Given the description of an element on the screen output the (x, y) to click on. 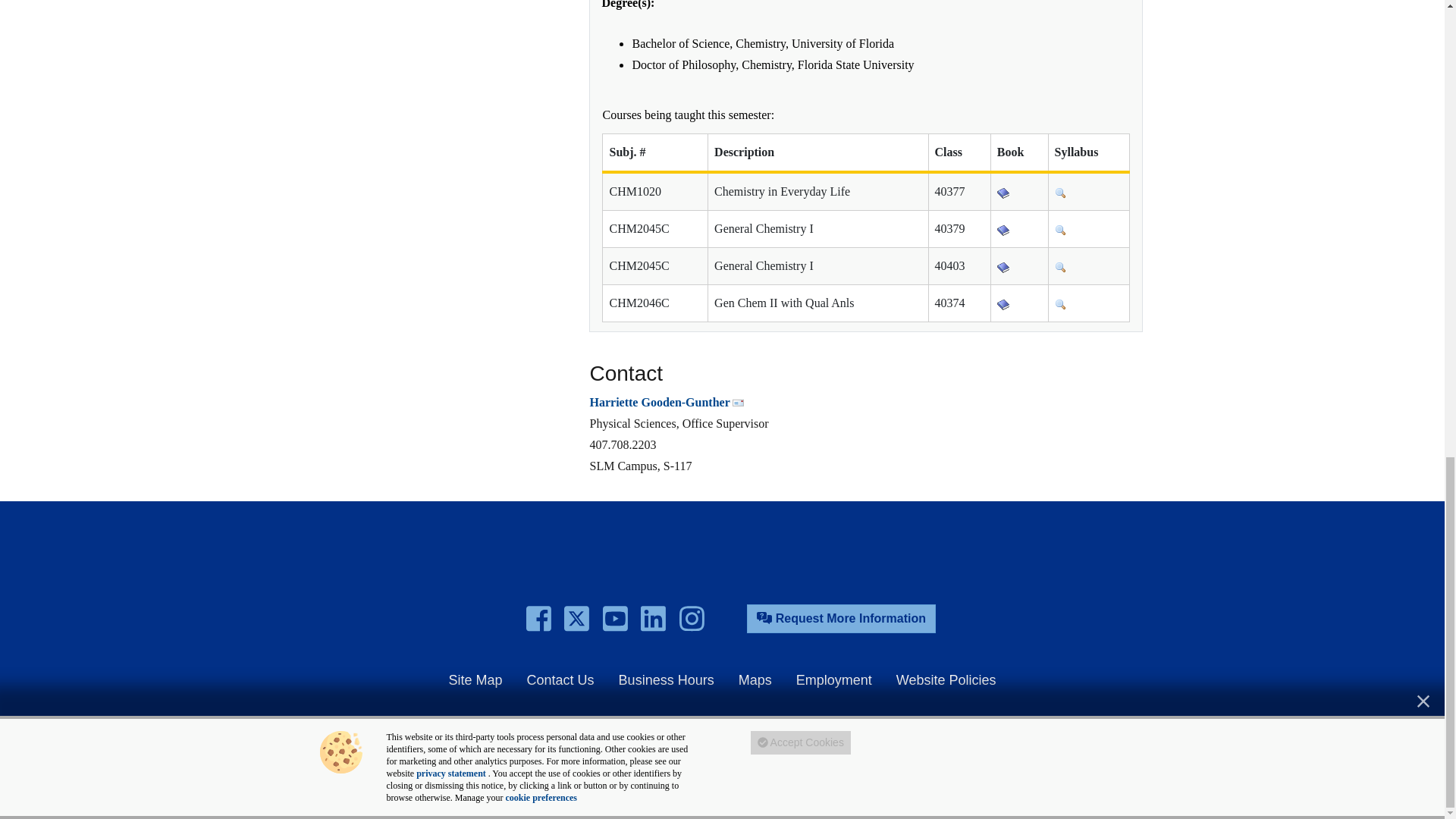
Network with us on LinkedIn (652, 618)
Follow us on Twitter (576, 618)
See us on Instagram (691, 618)
Watch us on YouTube (614, 618)
Like us on Facebook (538, 618)
